Given the description of an element on the screen output the (x, y) to click on. 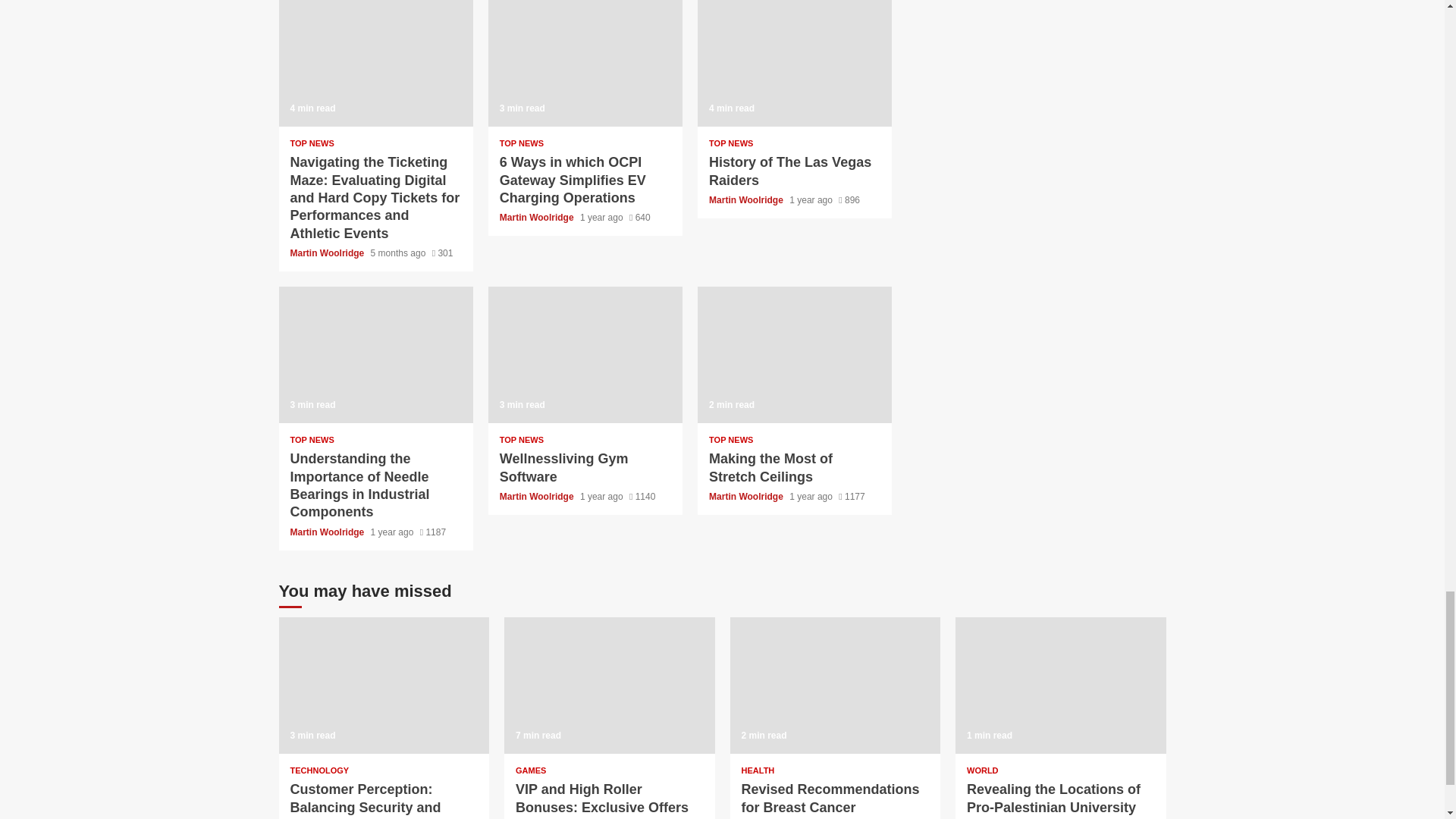
TOP NEWS (311, 143)
Martin Woolridge (537, 217)
History of The Las Vegas Raiders (789, 170)
640 (639, 217)
Martin Woolridge (747, 199)
TOP NEWS (730, 143)
History of The Las Vegas Raiders (794, 63)
